Given the description of an element on the screen output the (x, y) to click on. 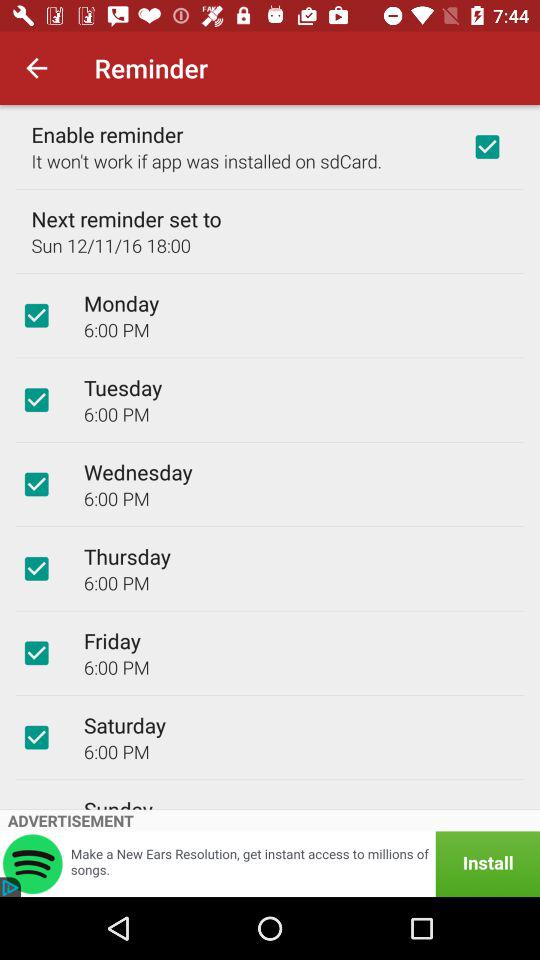
turn off item to the left of friday icon (36, 653)
